Given the description of an element on the screen output the (x, y) to click on. 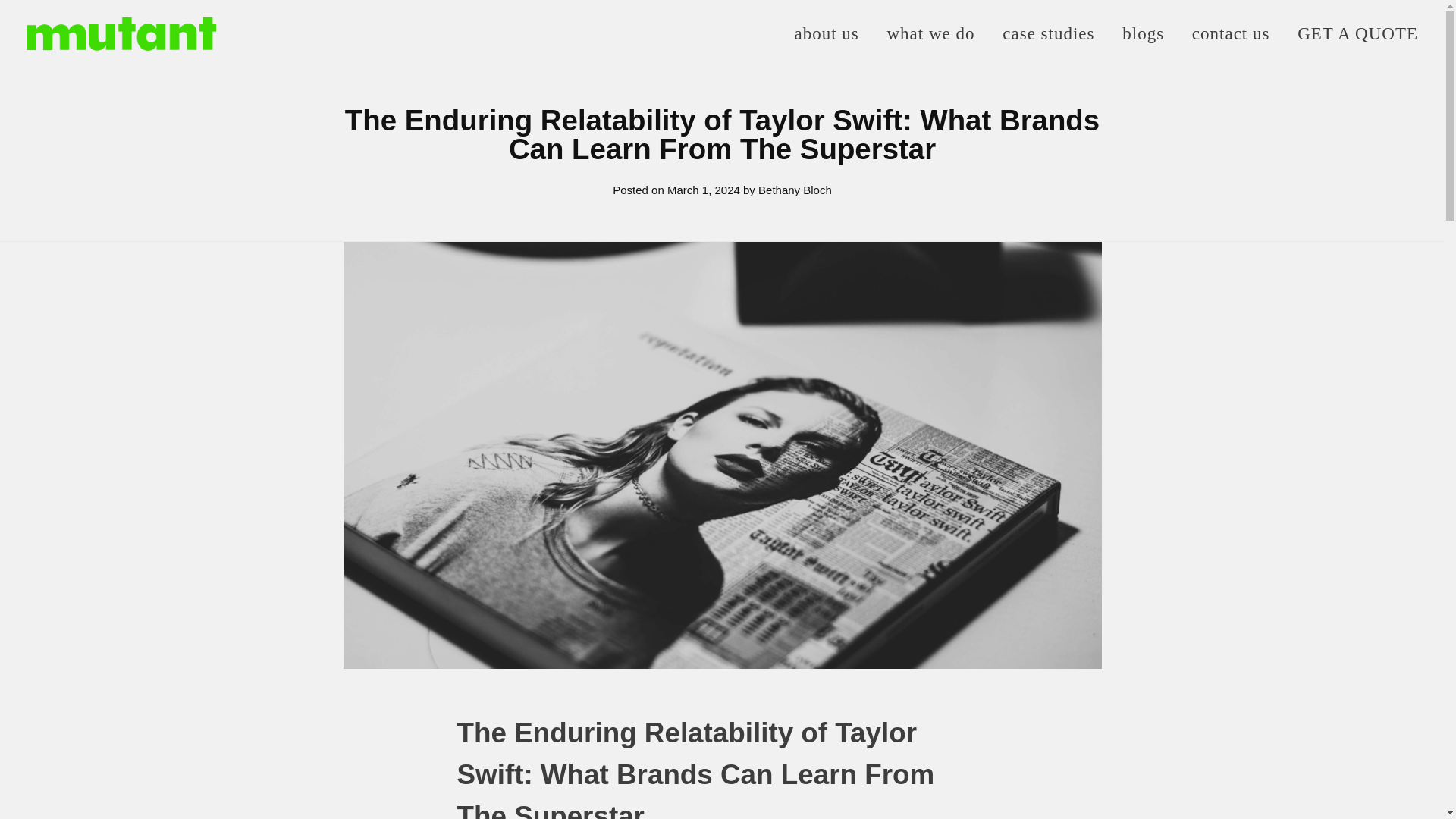
Mutant Communications (132, 76)
blogs (1142, 33)
about us (832, 33)
GET A QUOTE (1351, 33)
Bethany Bloch (794, 189)
contact us (1229, 33)
Mutant Communications (132, 76)
case studies (1048, 33)
